Given the description of an element on the screen output the (x, y) to click on. 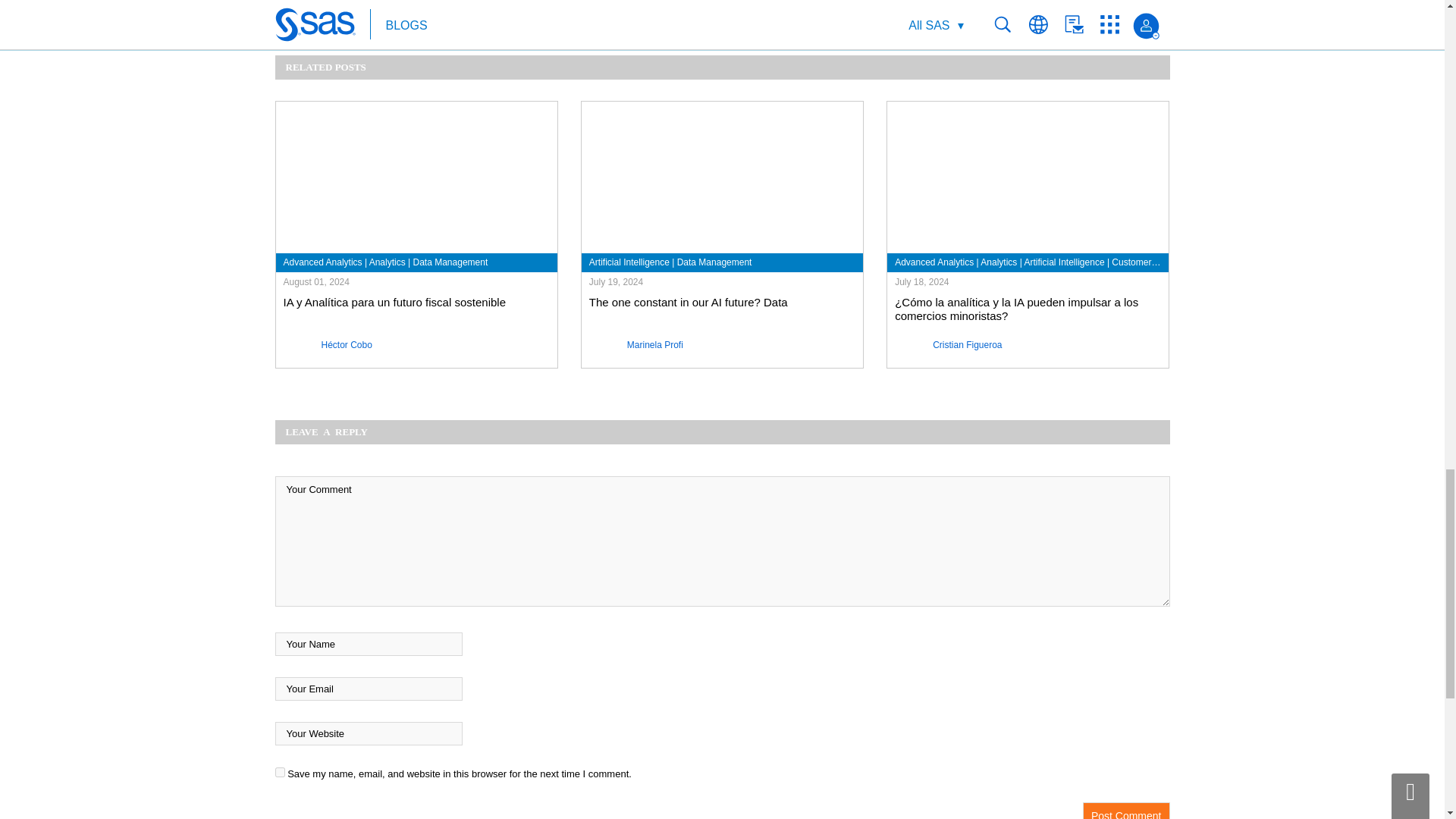
Post Comment (1126, 810)
Data Management (450, 262)
yes (279, 772)
Analytics (387, 262)
Advanced Analytics (322, 262)
